Given the description of an element on the screen output the (x, y) to click on. 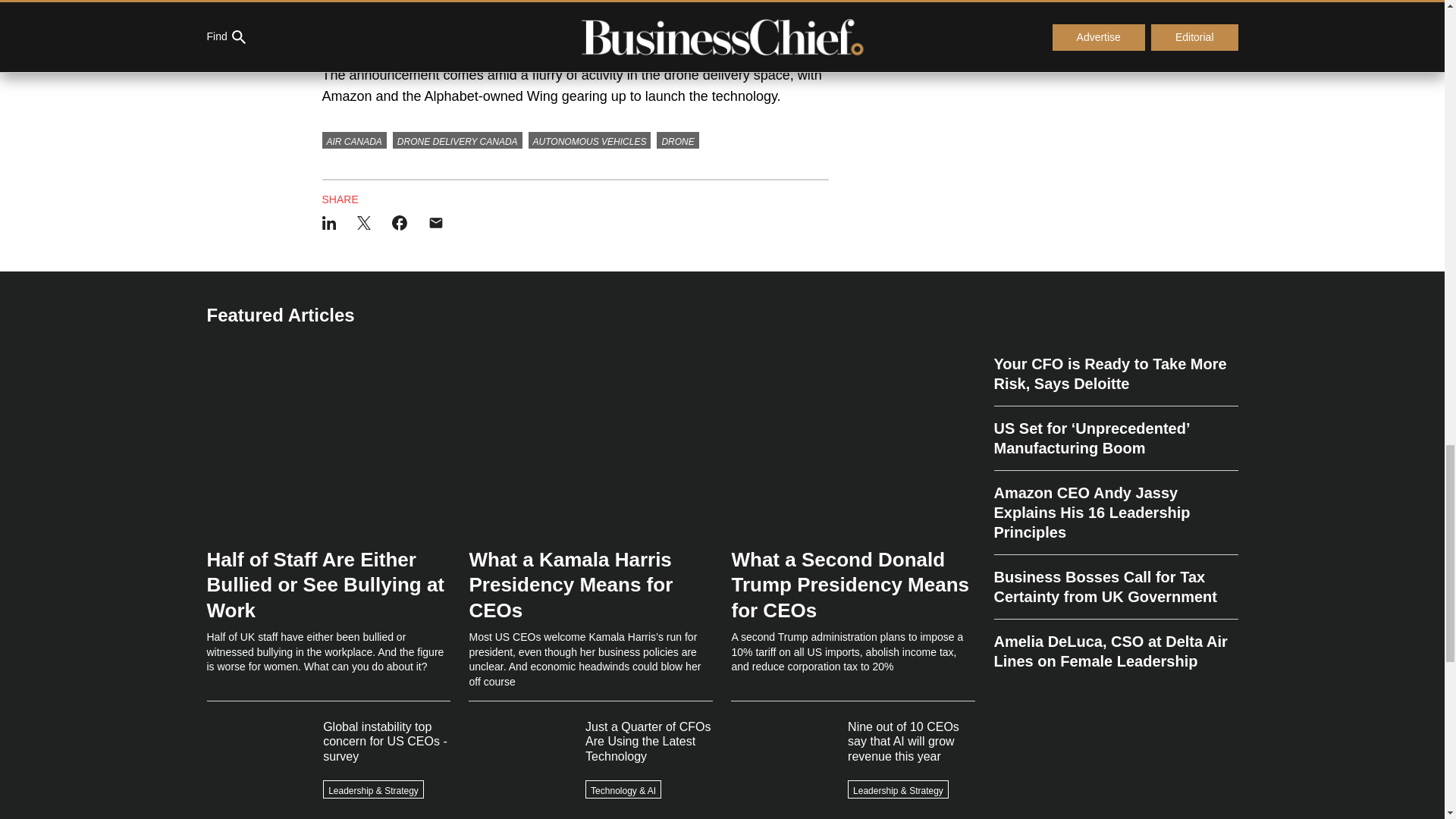
Amazon CEO Andy Jassy Explains His 16 Leadership Principles (1114, 512)
DRONE DELIVERY CANADA (457, 139)
Business Bosses Call for Tax Certainty from UK Government (1114, 587)
AIR CANADA (353, 139)
Your CFO is Ready to Take More Risk, Says Deloitte (1114, 379)
DRONE (677, 139)
Amelia DeLuca, CSO at Delta Air Lines on Female Leadership (1114, 644)
AUTONOMOUS VEHICLES (589, 139)
